Given the description of an element on the screen output the (x, y) to click on. 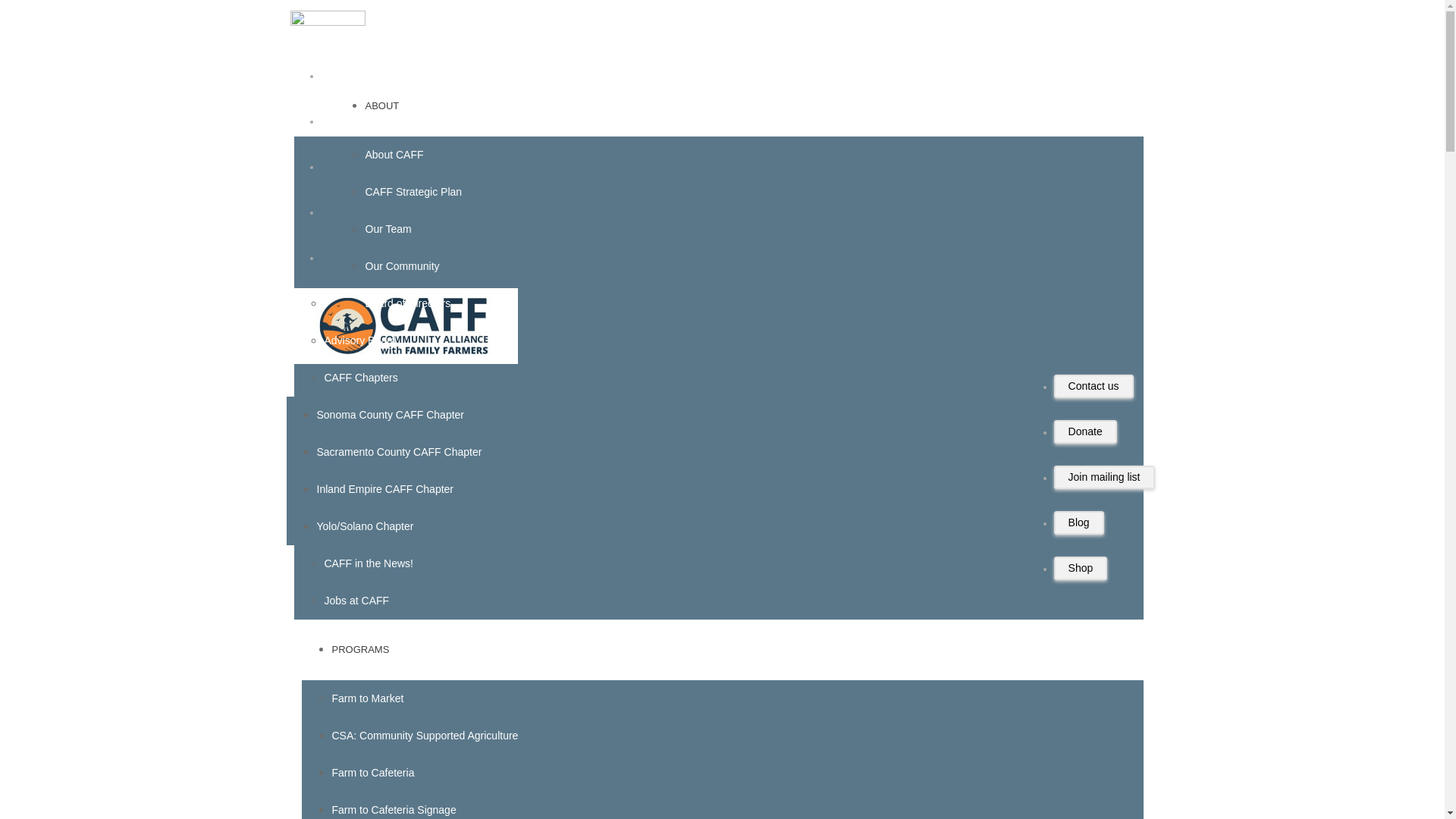
CAFF Strategic Plan (414, 191)
Inland Empire CAFF Chapter (385, 489)
Farm to Cafeteria Signage (394, 809)
About CAFF (394, 154)
Sonoma County CAFF Chapter (390, 414)
PROGRAMS (360, 649)
Farm to Market (367, 698)
Shop (1081, 567)
Farm to Cafeteria (372, 772)
Sacramento County CAFF Chapter (399, 451)
Our Team (388, 228)
Contact us (1094, 386)
Blog (1078, 522)
ABOUT (381, 105)
CSA: Community Supported Agriculture (424, 735)
